Given the description of an element on the screen output the (x, y) to click on. 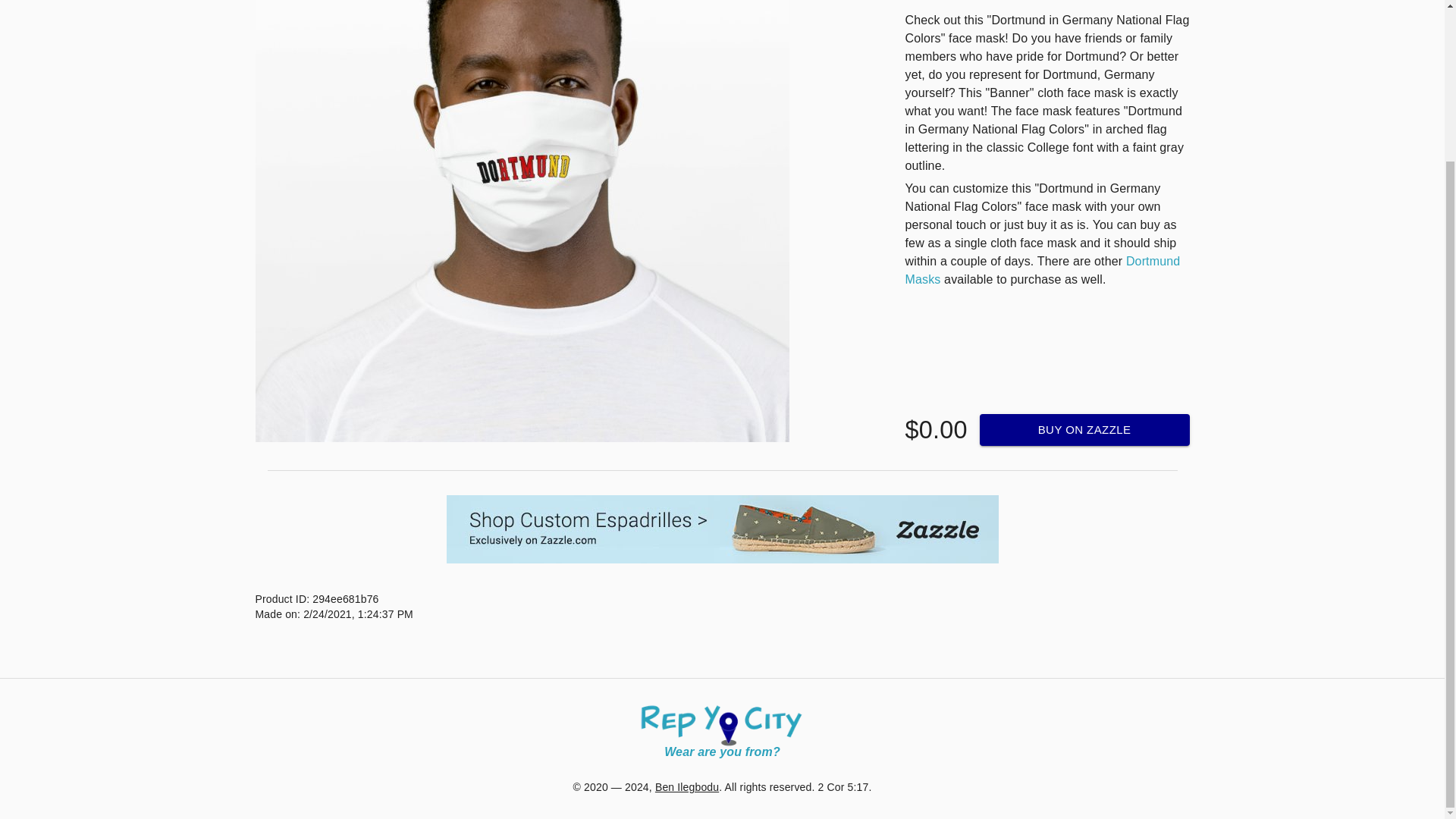
2 Cor 5:17 (843, 787)
BUY ON ZAZZLE (1084, 429)
Ben Ilegbodu (687, 787)
Dortmund Masks (1042, 269)
